Given the description of an element on the screen output the (x, y) to click on. 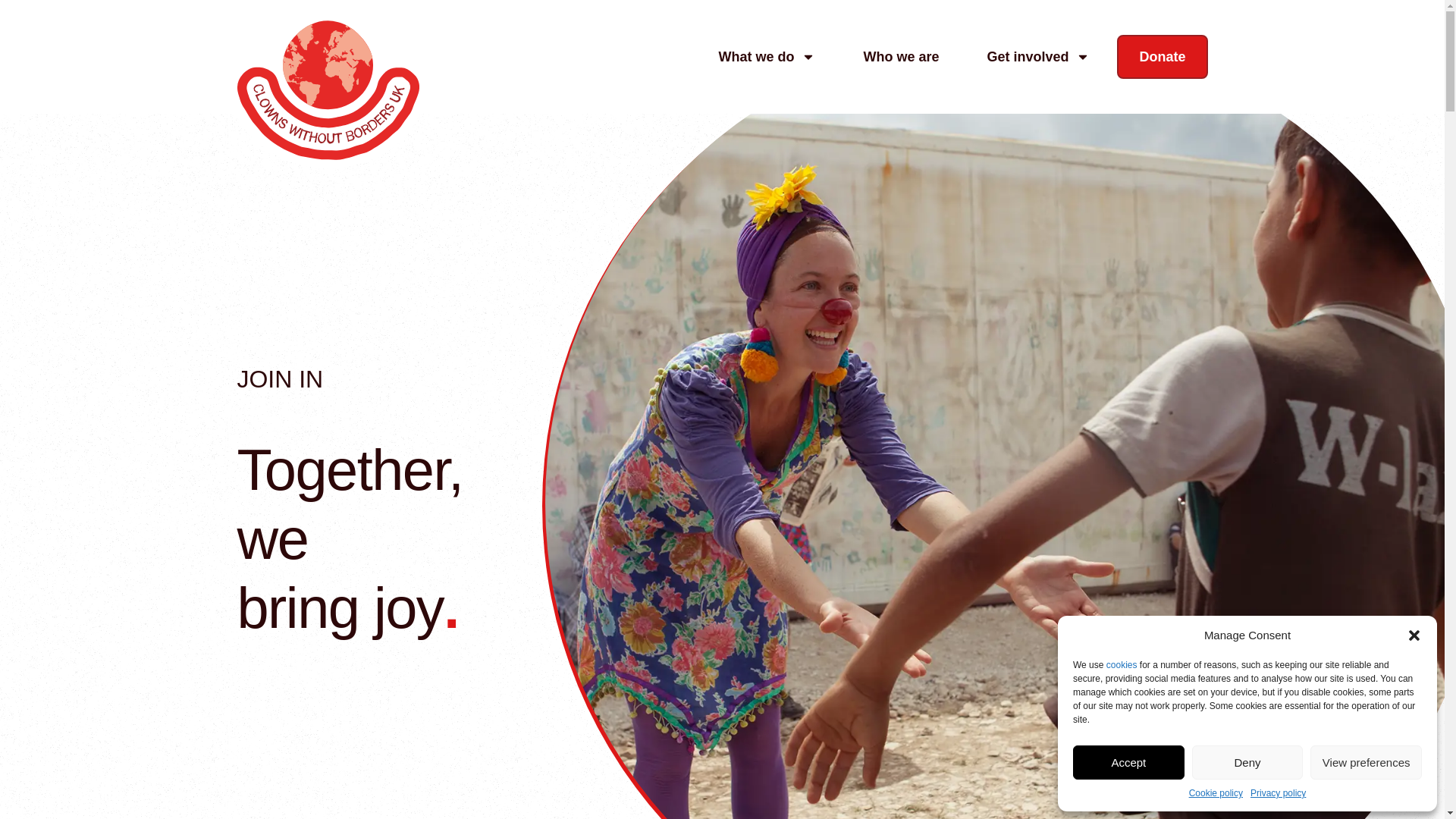
cookies (1121, 665)
Accept (1129, 762)
Get involved (1037, 56)
View preferences (1366, 762)
Privacy policy (1278, 793)
What we do (766, 56)
Who we are (901, 56)
Donate (1161, 56)
Cookie policy (1216, 793)
Deny (1247, 762)
